Given the description of an element on the screen output the (x, y) to click on. 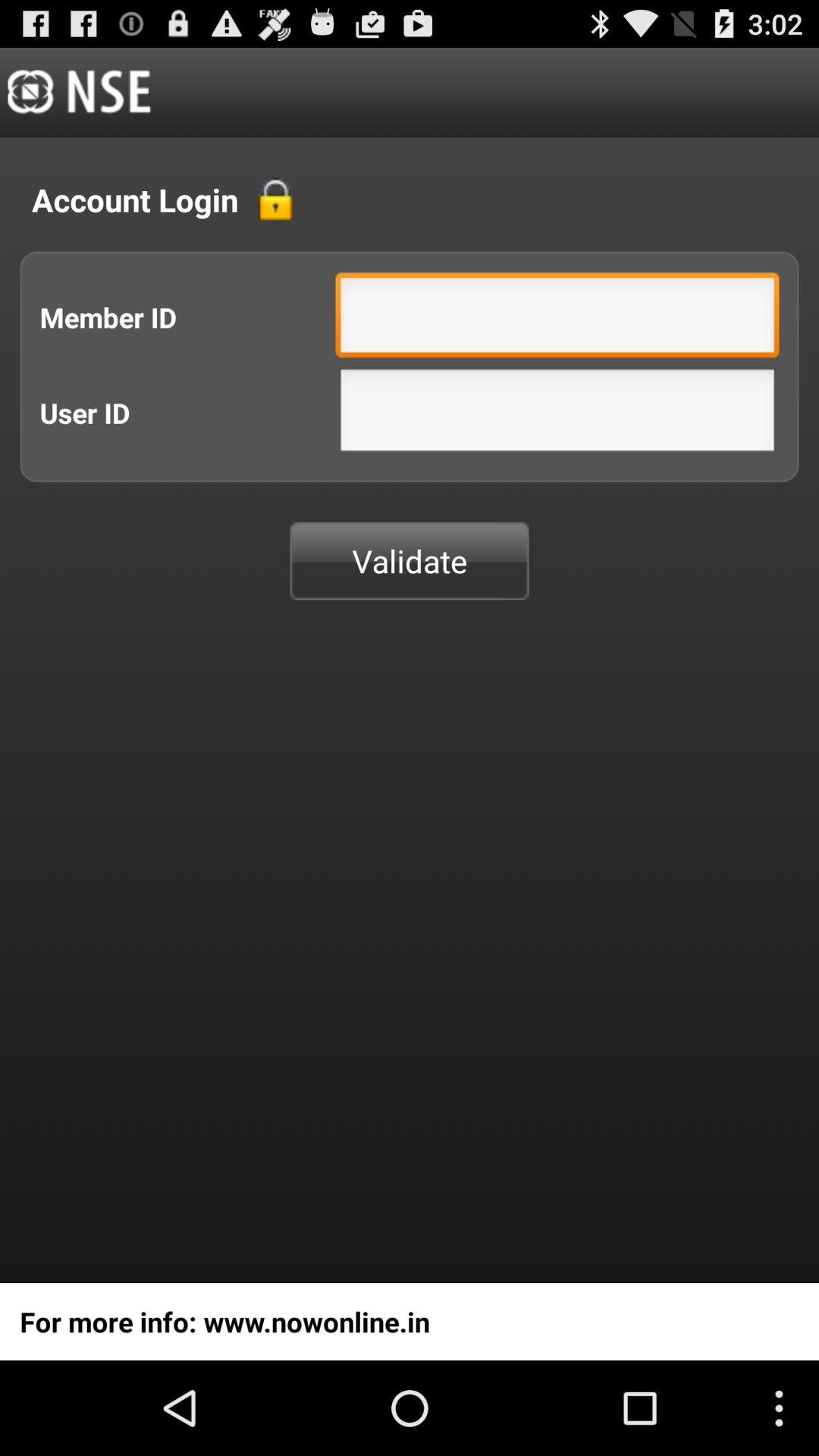
entrybox option (557, 318)
